Given the description of an element on the screen output the (x, y) to click on. 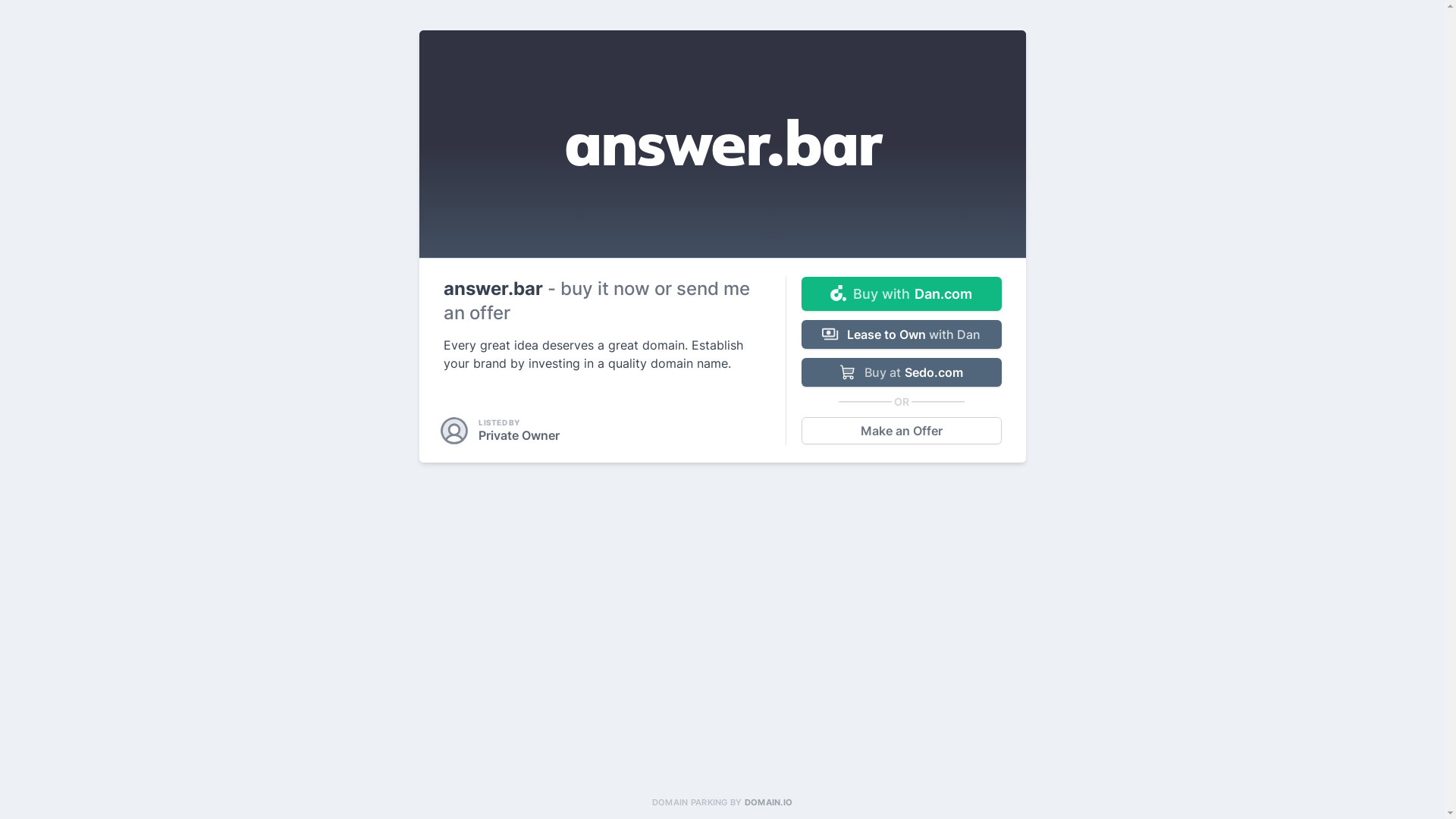
Buy at Sedo.com Element type: text (900, 371)
DOMAIN PARKING BY DOMAIN.IO Element type: text (722, 802)
LISTED BY
Private Owner Element type: text (500, 430)
Make an Offer Element type: text (900, 430)
Buy with Dan.com Element type: text (900, 293)
Lease to Own with Dan Element type: text (900, 334)
